Given the description of an element on the screen output the (x, y) to click on. 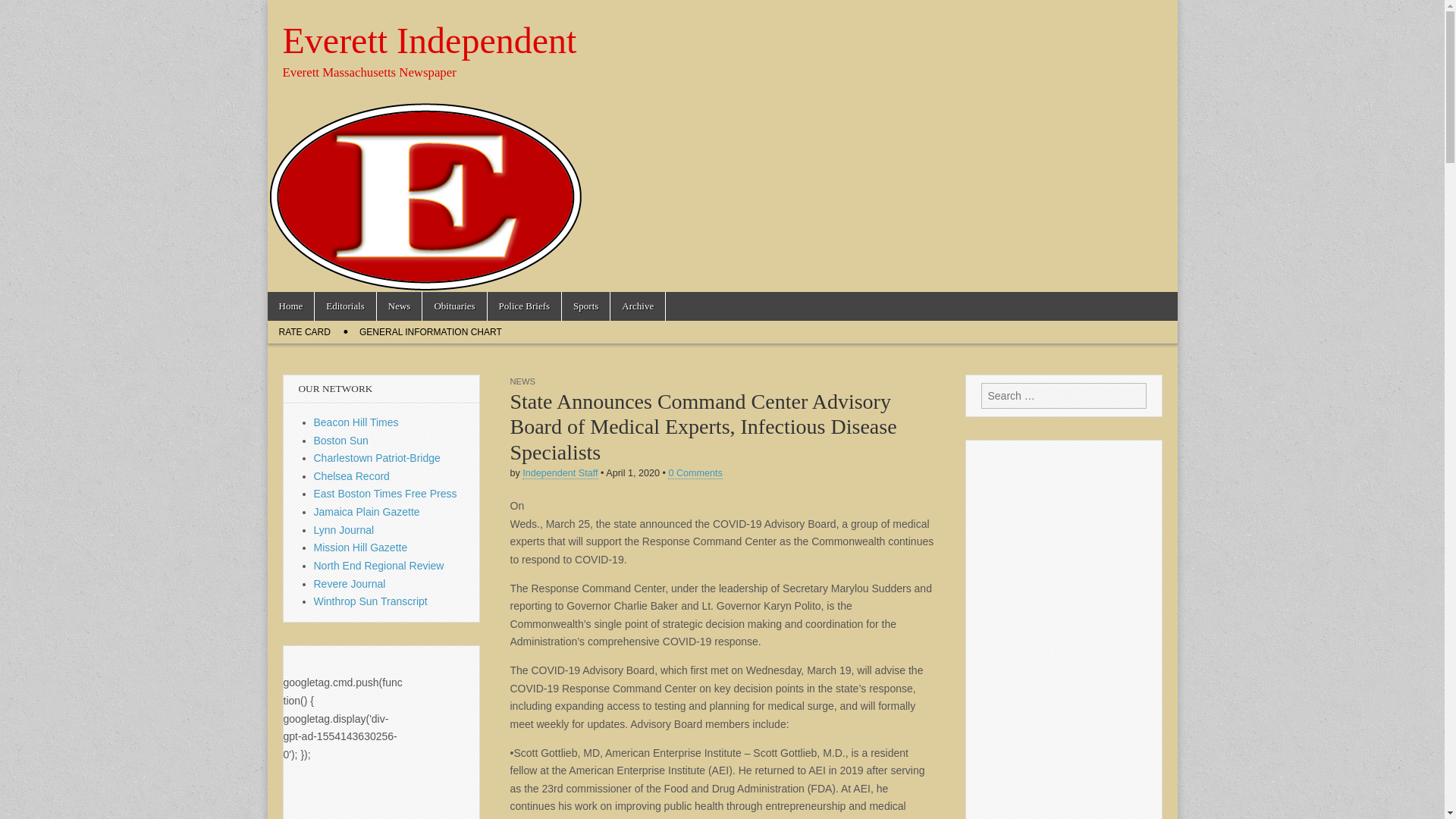
NEWS (522, 380)
Independent Staff (559, 473)
Posts by Independent Staff (559, 473)
Everett Independent (429, 40)
Mission Hill Gazette (360, 547)
North End Regional Review (379, 565)
Winthrop Sun Transcript (371, 601)
Obituaries (454, 306)
Police Briefs (524, 306)
Revere Journal (349, 583)
Archive (637, 306)
Boston Sun (341, 440)
Sports (586, 306)
